Given the description of an element on the screen output the (x, y) to click on. 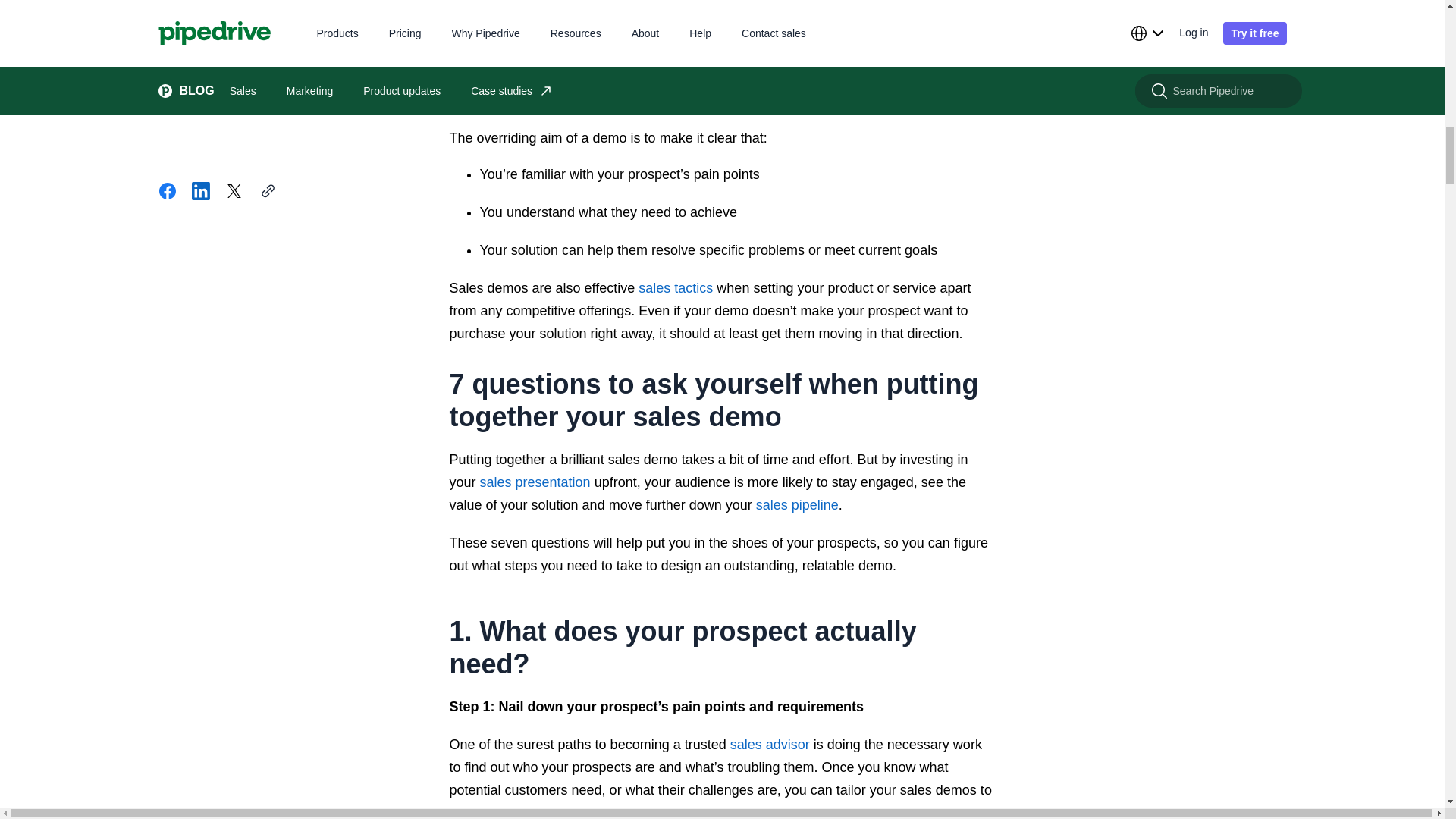
sales tactics (676, 287)
sales pipeline (796, 504)
sales advisor (769, 744)
sales presentation (535, 482)
